Given the description of an element on the screen output the (x, y) to click on. 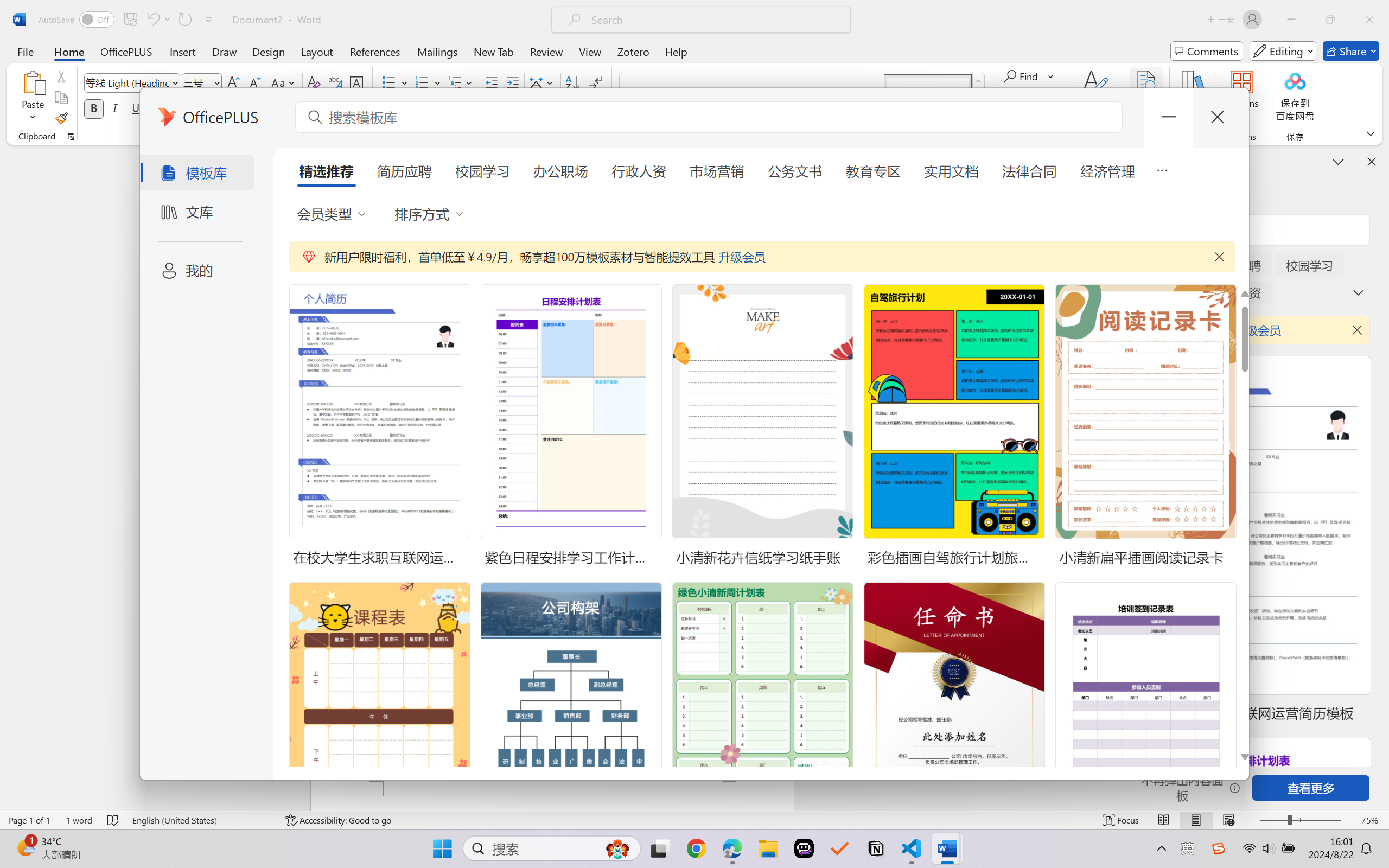
Minimize (1291, 19)
Accessibility Checker Accessibility: Good to go (338, 819)
Home (69, 51)
Repeat Doc Close (184, 19)
Layout (316, 51)
Italic (115, 108)
View (589, 51)
Undo Typing (158, 19)
